Given the description of an element on the screen output the (x, y) to click on. 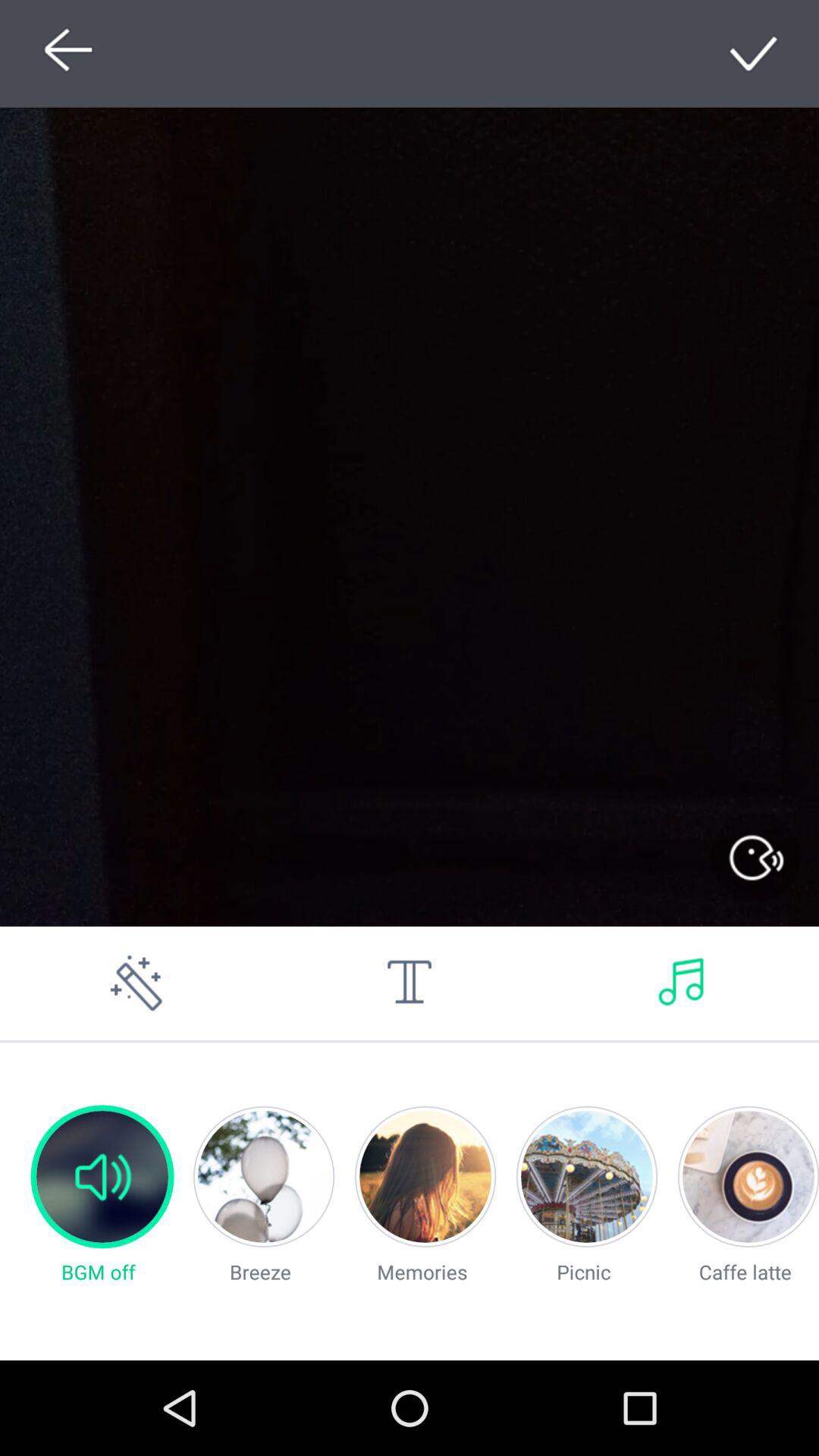
this icon indicates a text items (409, 983)
